Given the description of an element on the screen output the (x, y) to click on. 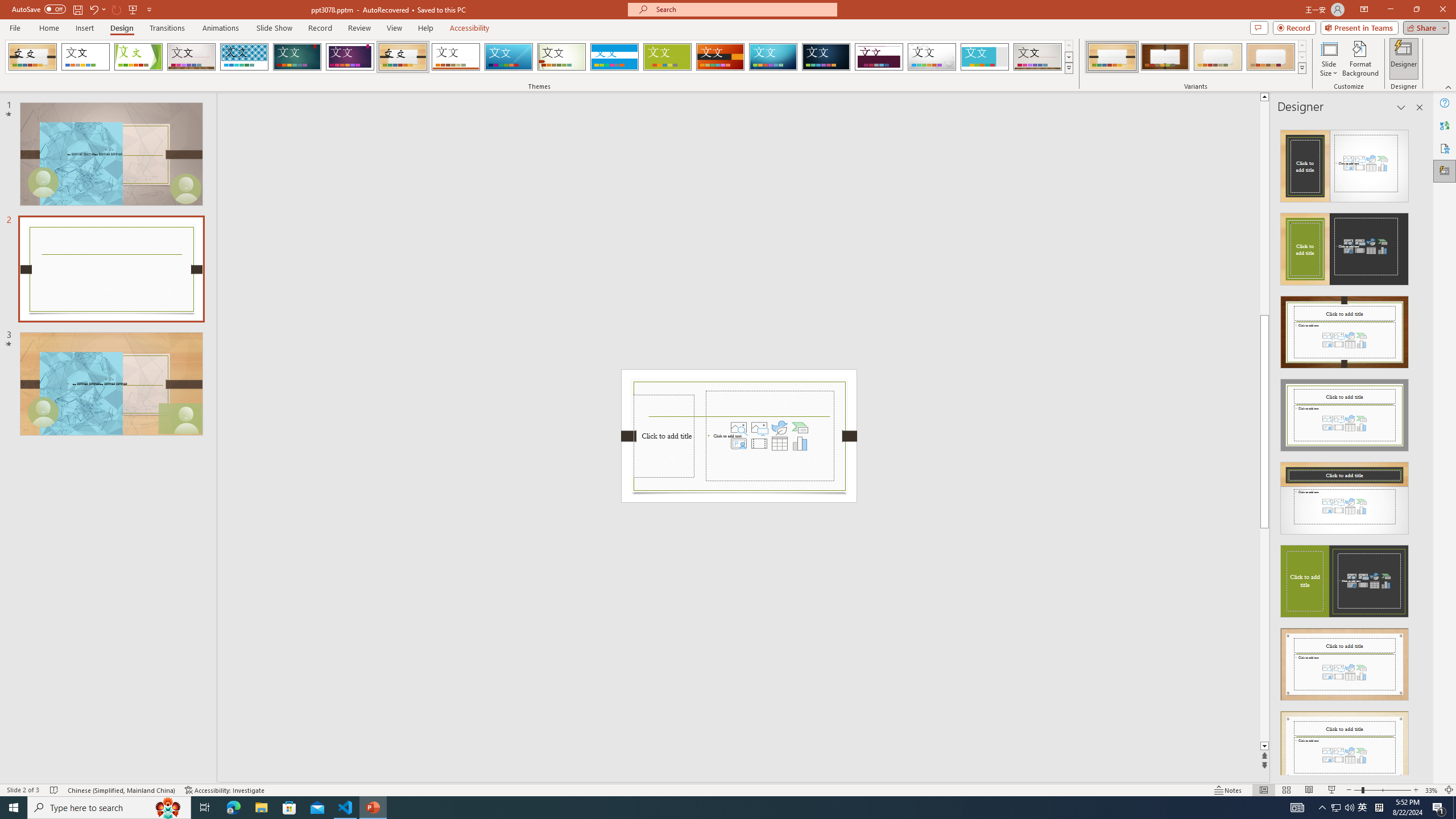
AutomationID: ThemeVariantsGallery (1195, 56)
Organic (403, 56)
Insert Video (758, 443)
Format Background (1360, 58)
Organic Variant 3 (1217, 56)
Stock Images (738, 427)
Berlin (720, 56)
